Given the description of an element on the screen output the (x, y) to click on. 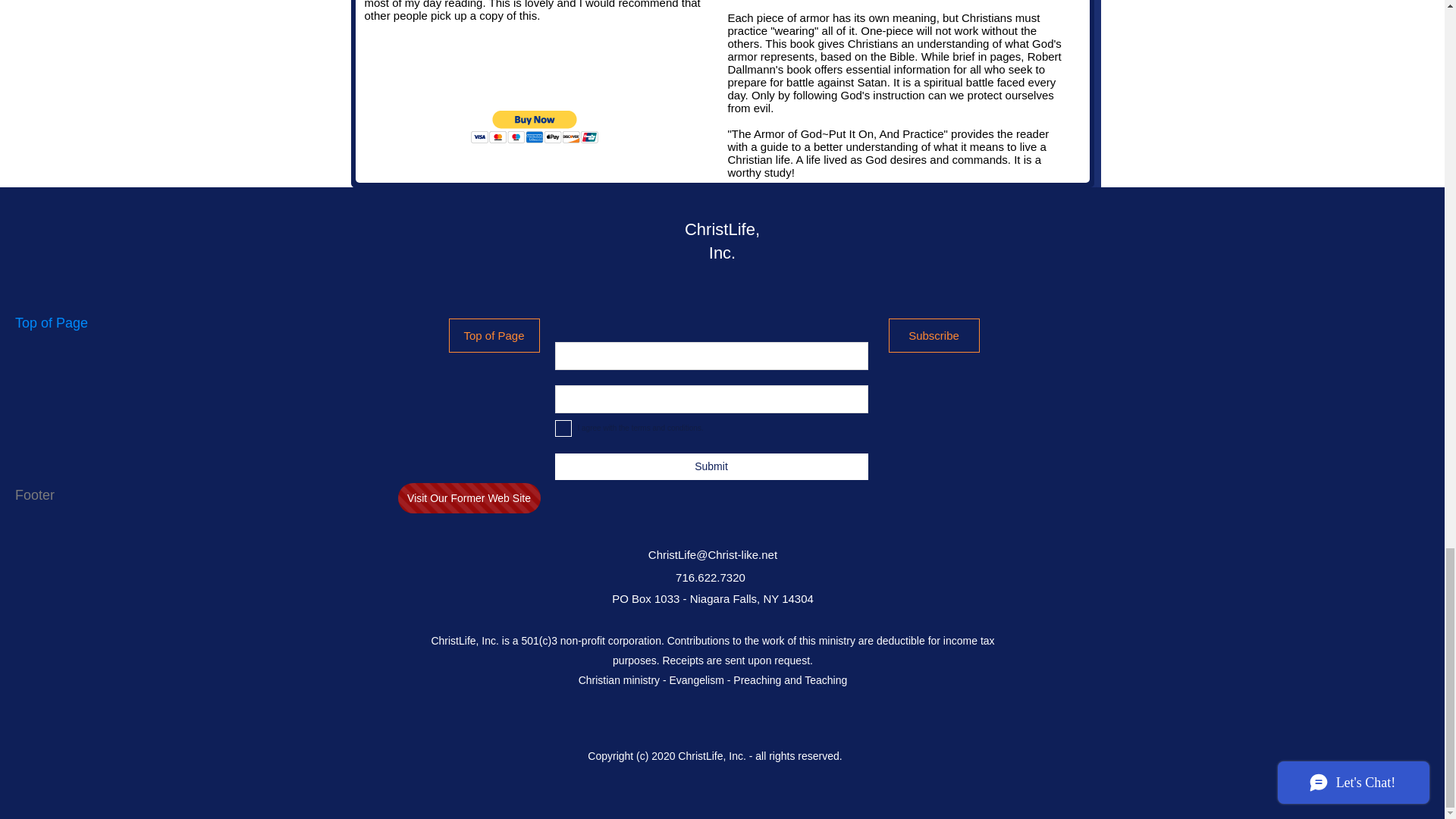
ChristLife, Inc. (722, 241)
Top of Page (494, 335)
Subscribe (933, 335)
Visit Our Former Web Site (468, 498)
Submit (710, 466)
